Given the description of an element on the screen output the (x, y) to click on. 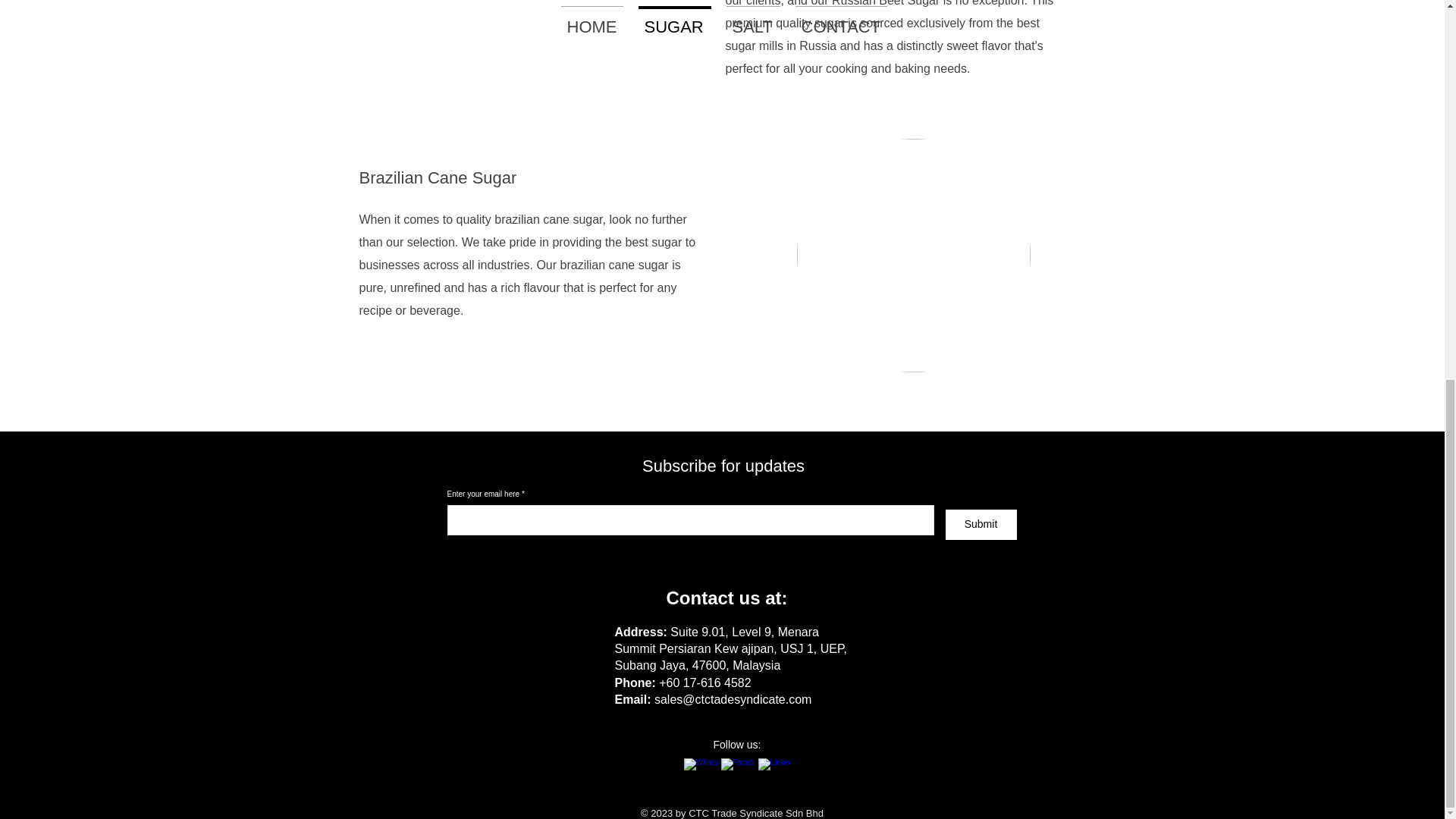
Submit (980, 524)
